Given the description of an element on the screen output the (x, y) to click on. 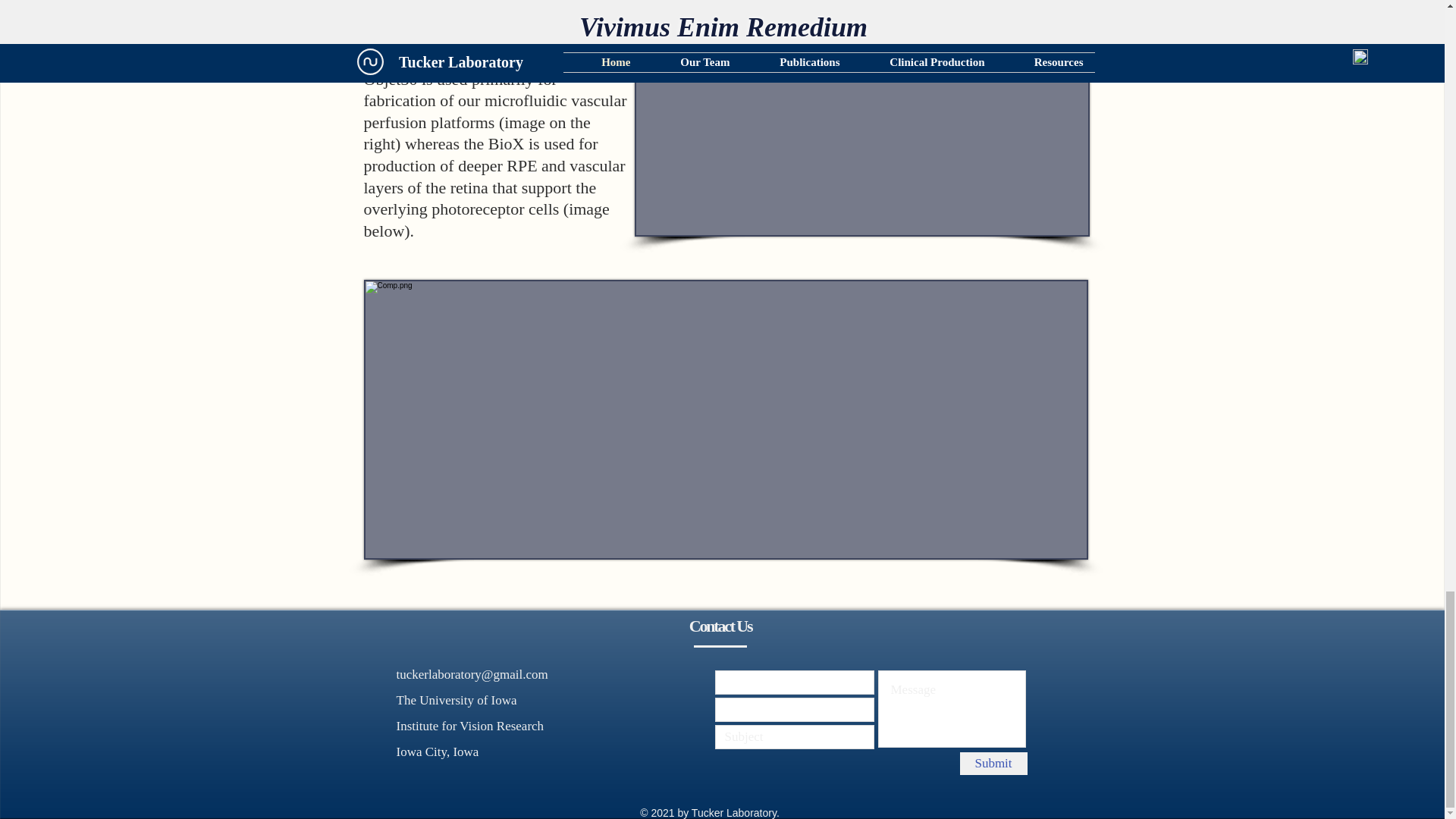
Submit (993, 763)
